Given the description of an element on the screen output the (x, y) to click on. 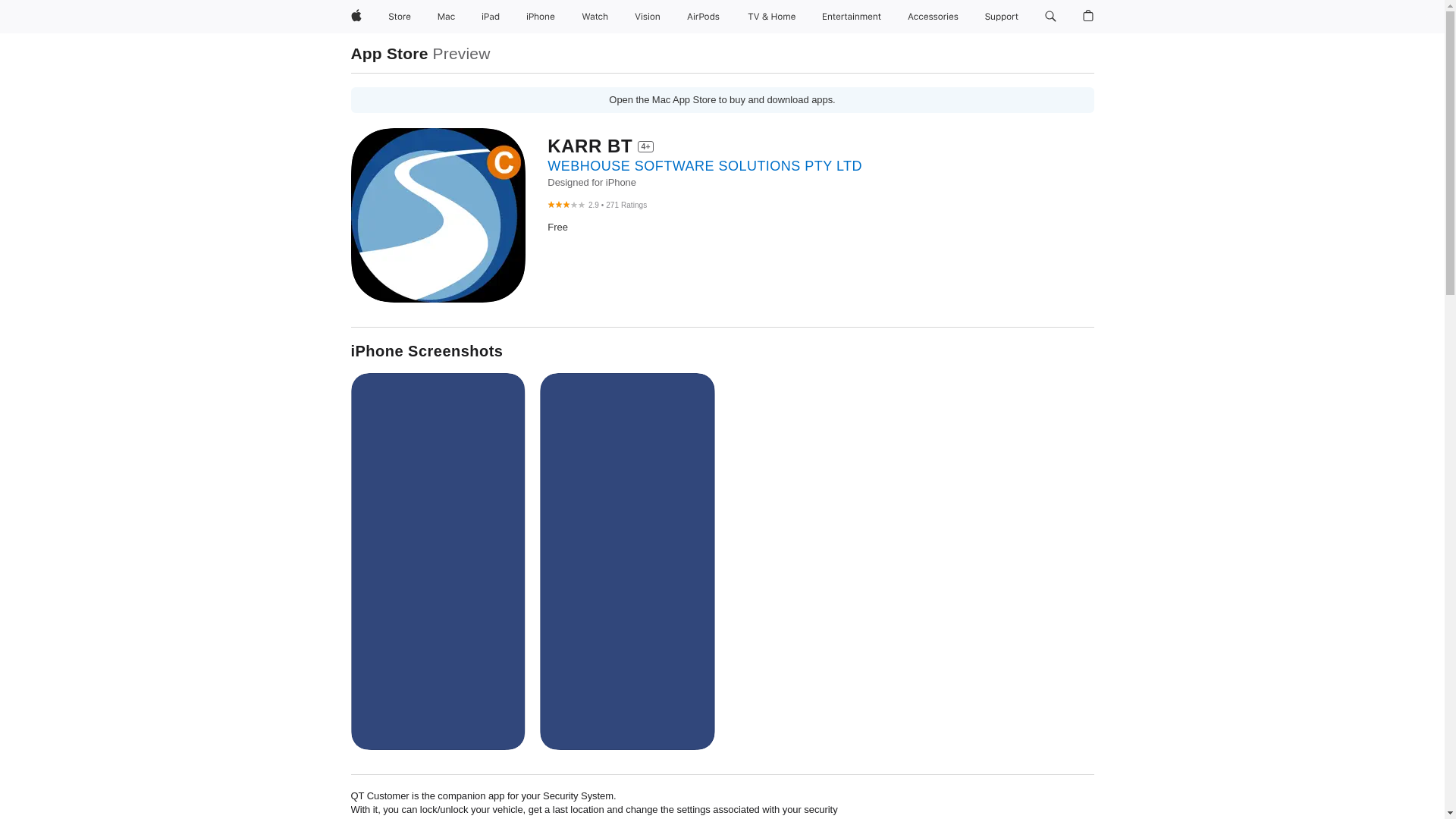
WEBHOUSE SOFTWARE SOLUTIONS PTY LTD (704, 165)
Accessories (932, 16)
Vision (647, 16)
App Store (389, 53)
Support (1001, 16)
iPad (490, 16)
AirPods (703, 16)
Watch (594, 16)
Store (398, 16)
iPhone (539, 16)
